Given the description of an element on the screen output the (x, y) to click on. 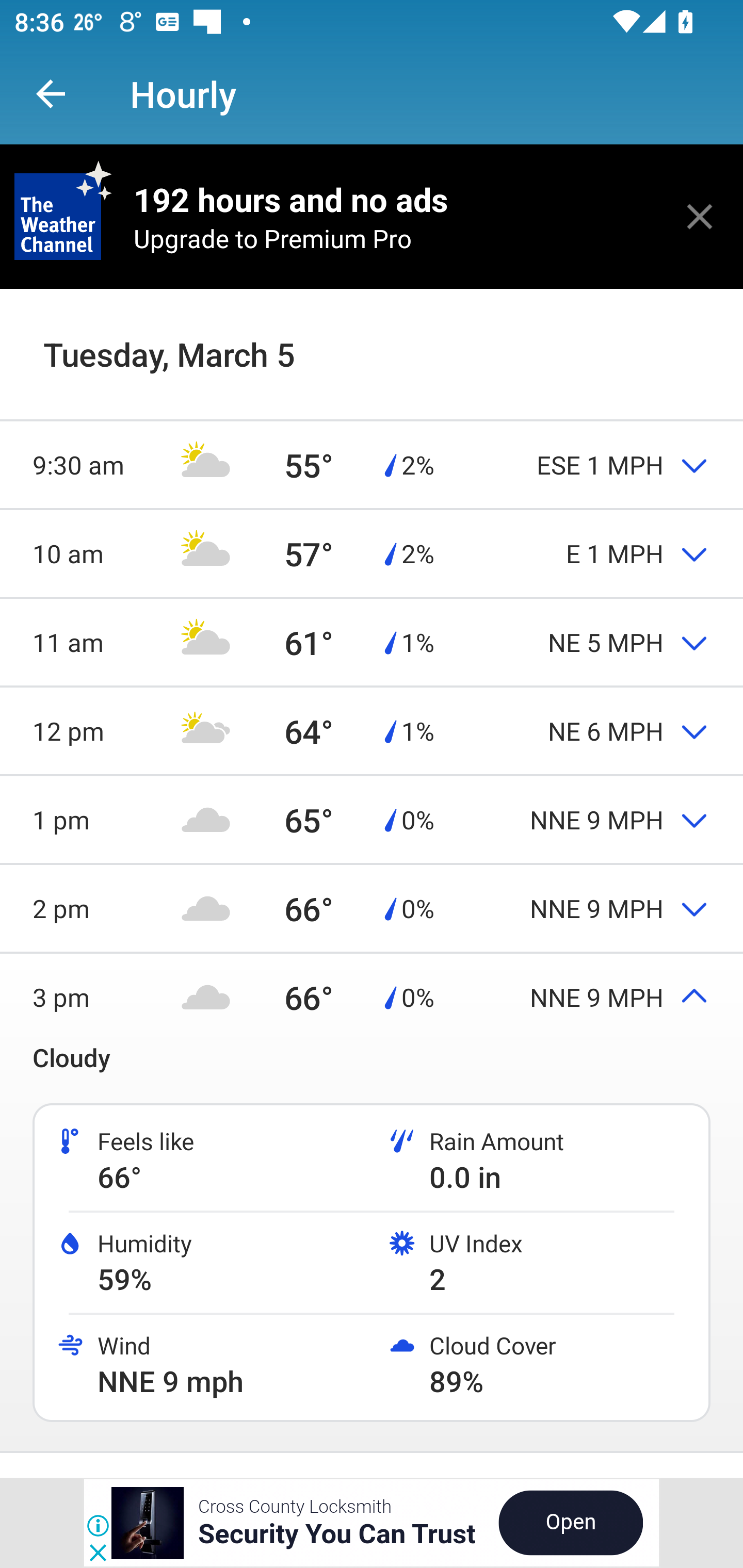
Navigate up (50, 93)
close this (699, 216)
9:30 am 55° 2% ESE 1 MPH (371, 464)
10 am 57° 2% E 1 MPH (371, 553)
11 am 61° 1% NE 5 MPH (371, 641)
12 pm 64° 1% NE 6 MPH (371, 730)
1 pm 65° 0% NNE 9 MPH (371, 819)
2 pm 66° 0% NNE 9 MPH (371, 908)
3 pm 66° 0% NNE 9 MPH (371, 996)
